Given the description of an element on the screen output the (x, y) to click on. 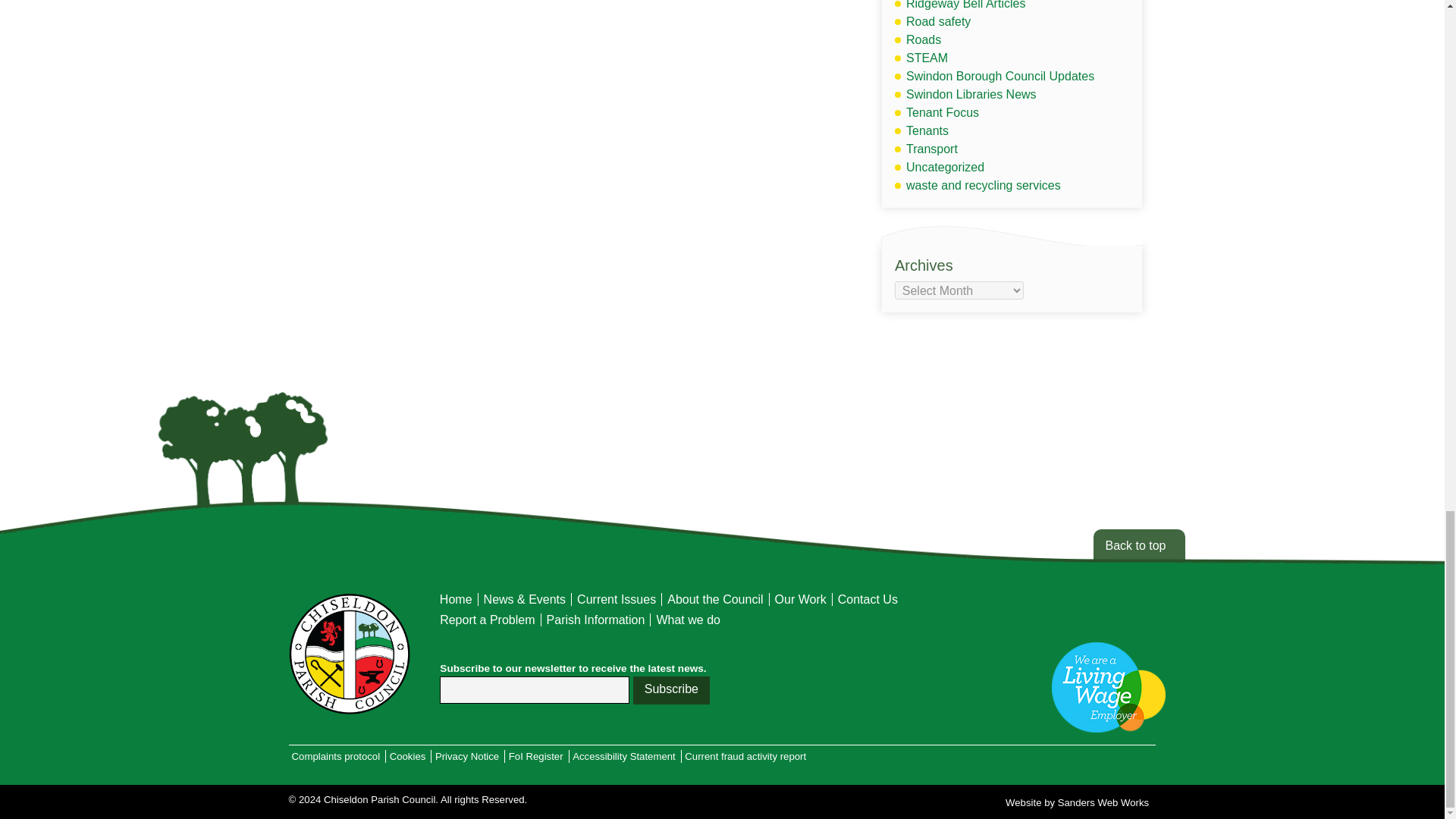
Site cookie policy (408, 755)
What Chiseldon Parish Council do (687, 620)
Sanders Web Works - Web Design agency for hire in Wiltshire (1077, 801)
Chiseldon information for residents (596, 620)
Chiseldon issue Tracker (486, 620)
Chiseldon Complaints Protocol (336, 755)
Website Accessibility Statement (624, 755)
Subscribe (671, 690)
